Given the description of an element on the screen output the (x, y) to click on. 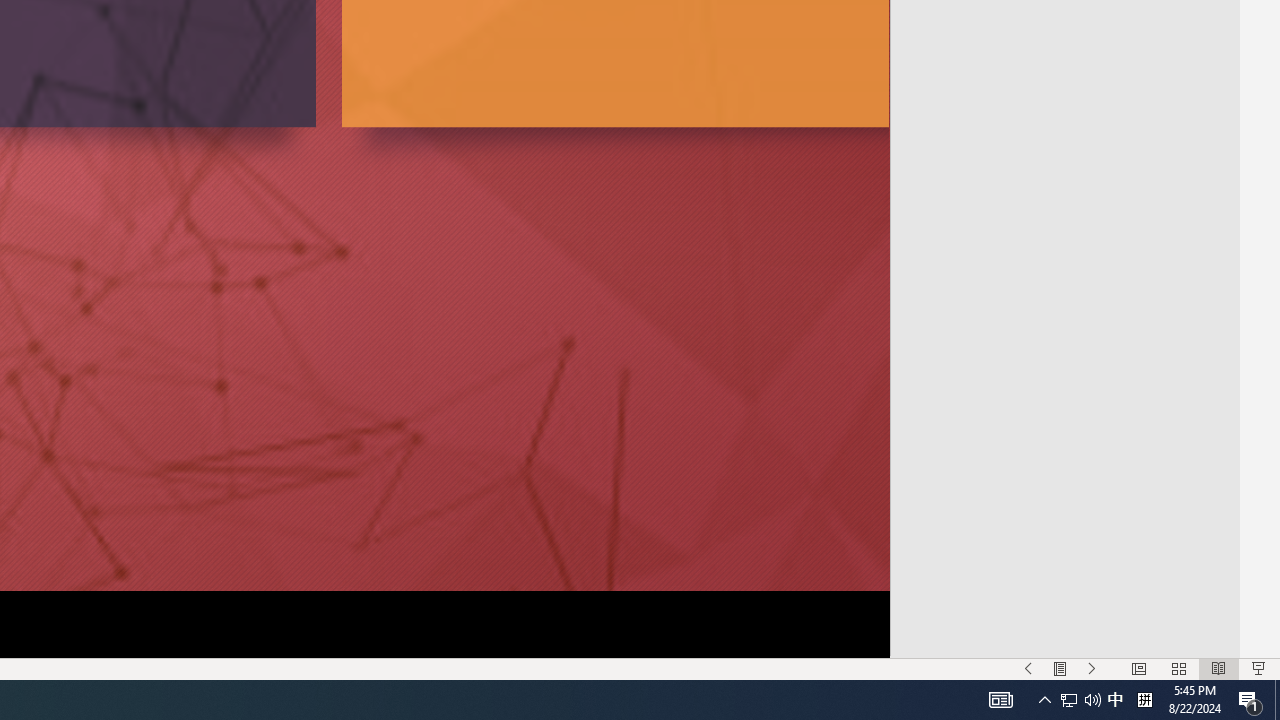
Slide Show Next On (1092, 668)
Slide Show Previous On (1028, 668)
Menu On (1060, 668)
